Given the description of an element on the screen output the (x, y) to click on. 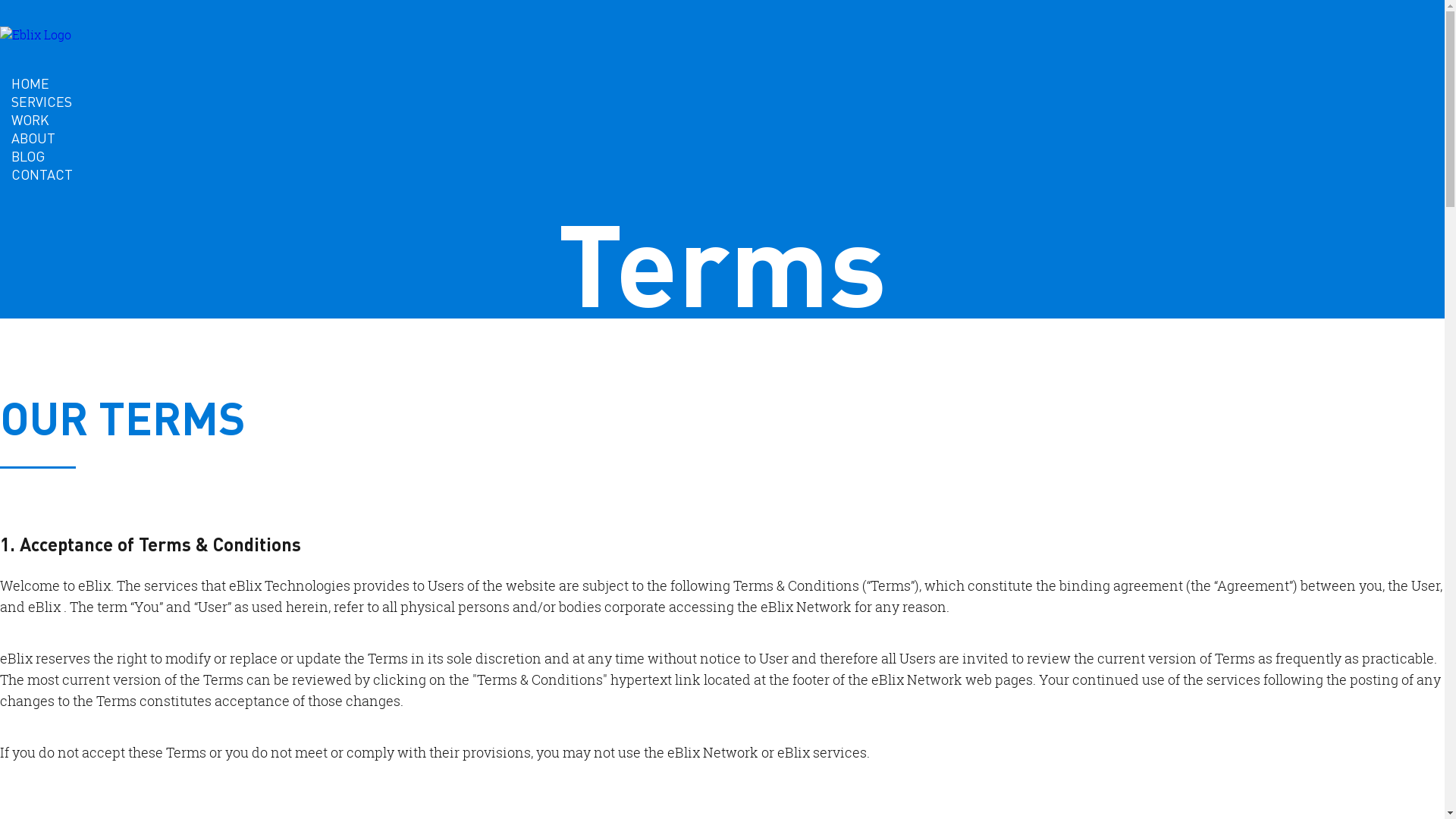
ABOUT Element type: text (33, 137)
BLOG Element type: text (28, 155)
HOME Element type: text (30, 82)
CONTACT Element type: text (42, 173)
WORK Element type: text (30, 119)
SERVICES Element type: text (41, 100)
